Given the description of an element on the screen output the (x, y) to click on. 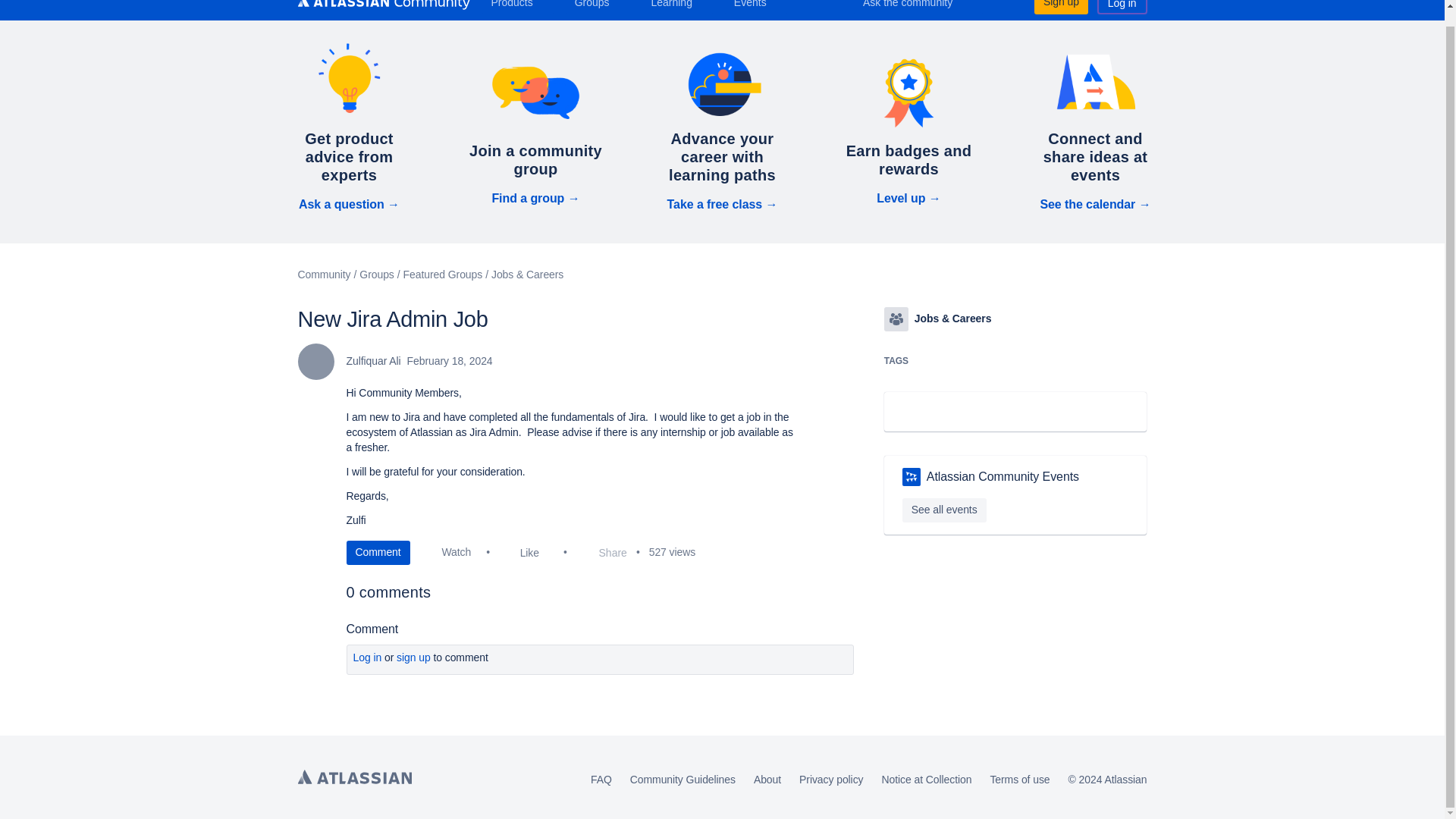
Atlassian Community logo (382, 4)
Groups (598, 7)
groups-icon (895, 319)
Learning (676, 7)
Atlassian Community logo (382, 6)
Ask the community  (917, 7)
Sign up (1060, 7)
Events (756, 7)
Products (517, 7)
Log in (1122, 7)
